Given the description of an element on the screen output the (x, y) to click on. 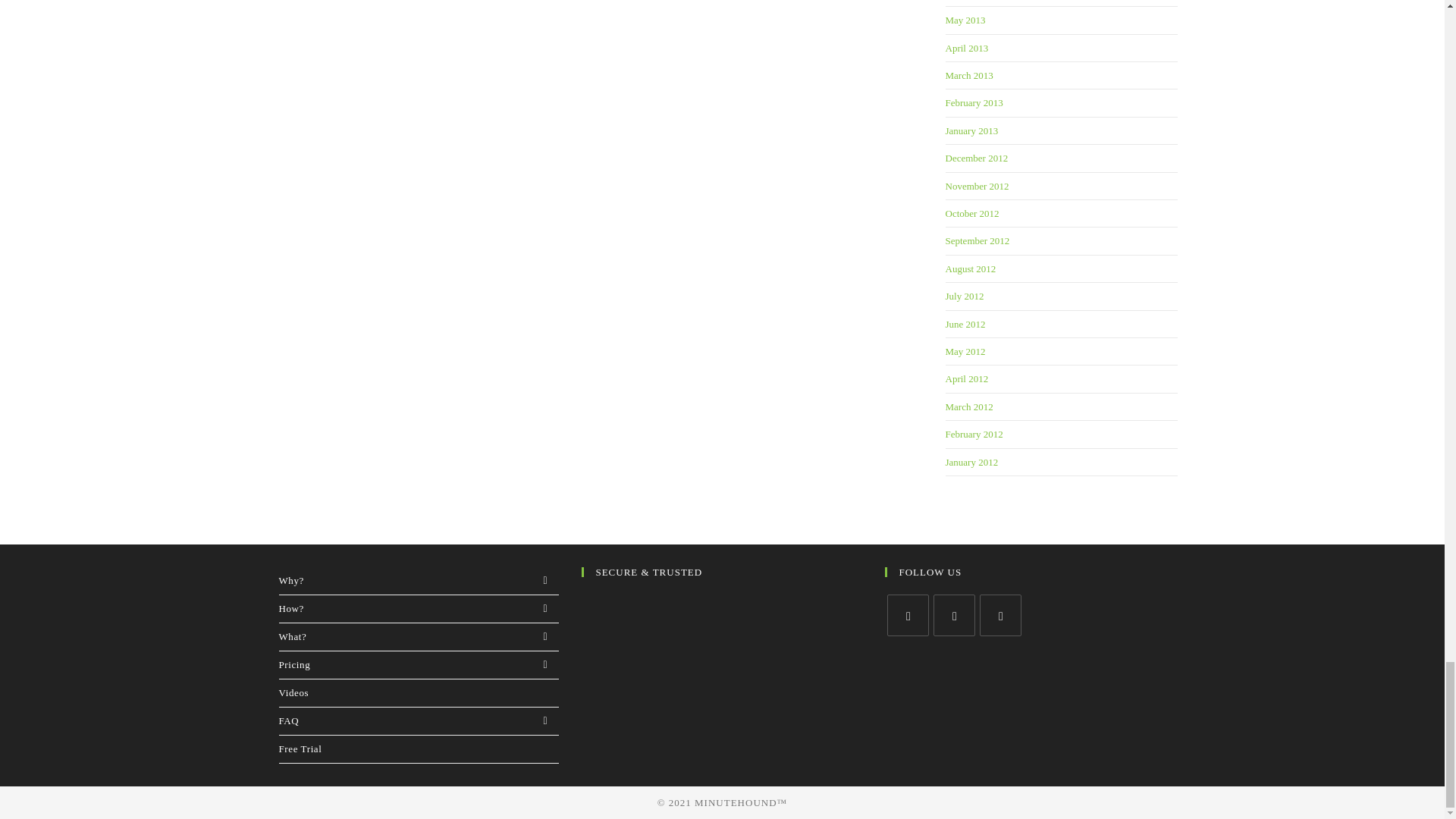
Youtube (1000, 615)
Twitter (907, 615)
Facebook (954, 615)
